Given the description of an element on the screen output the (x, y) to click on. 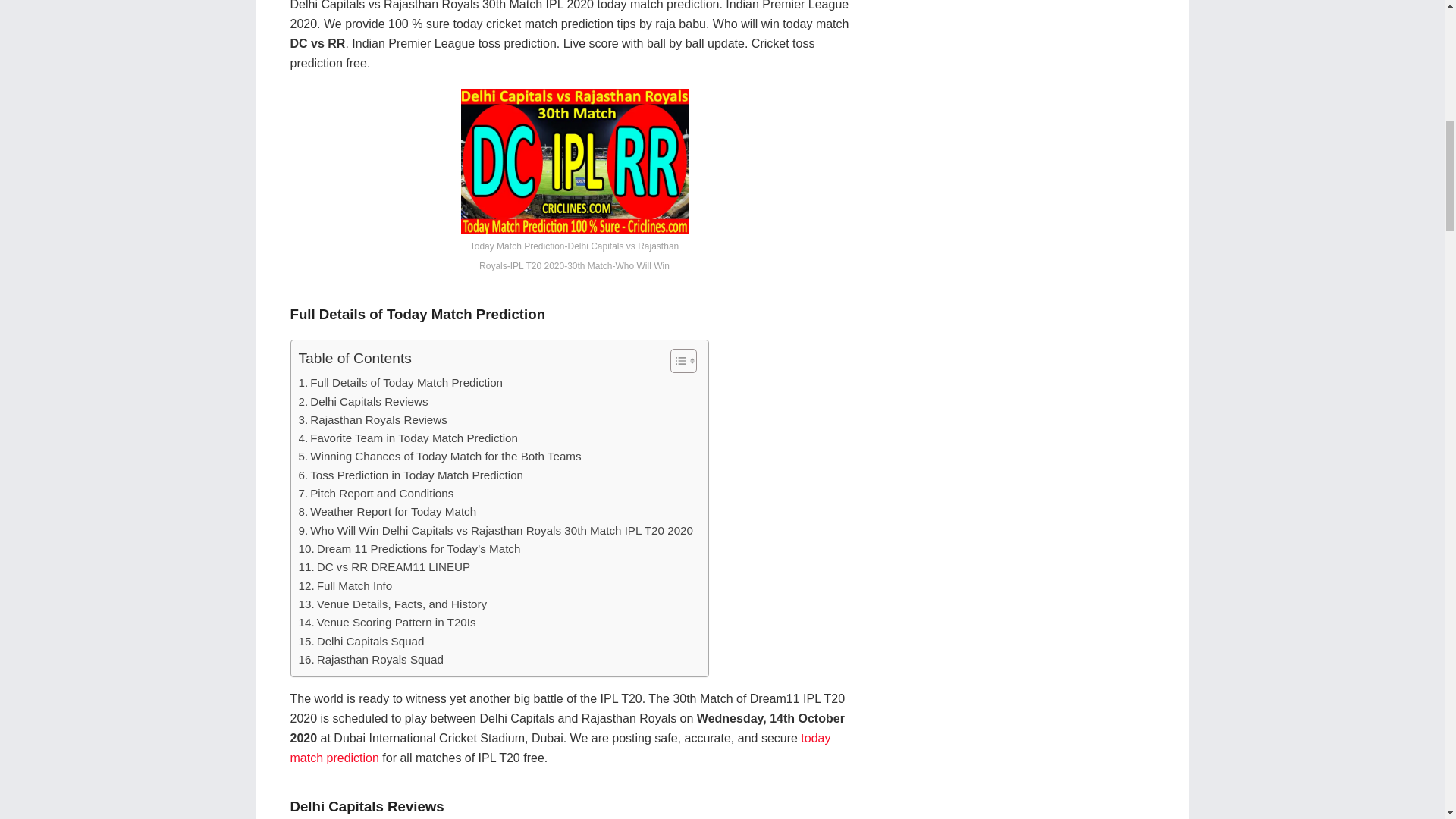
Delhi Capitals Reviews (363, 402)
Weather Report for Today Match (387, 511)
Venue Details, Facts, and History (392, 604)
Toss Prediction in Today Match Prediction (411, 475)
Rajasthan Royals Reviews (372, 420)
Full Match Info (345, 586)
Full Details of Today Match Prediction (400, 382)
Winning Chances of Today Match for the Both Teams (439, 456)
Pitch Report and Conditions (376, 493)
